Given the description of an element on the screen output the (x, y) to click on. 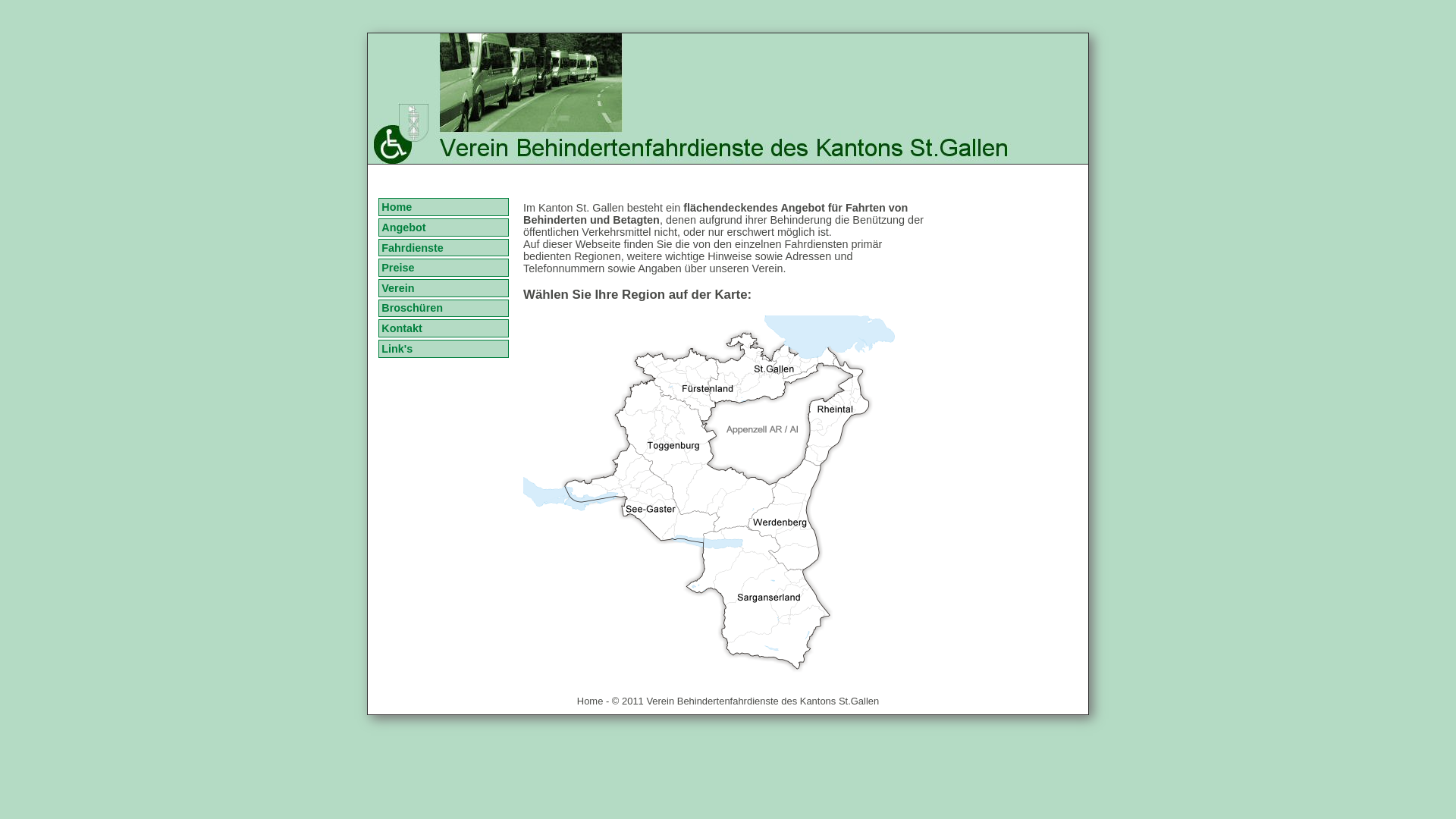
Fahrdienste Element type: text (443, 247)
Angebot Element type: text (443, 227)
Preise Element type: text (443, 267)
Kontakt Element type: text (443, 328)
Link's Element type: text (443, 348)
Verein Element type: text (443, 288)
Home Element type: text (443, 206)
